Given the description of an element on the screen output the (x, y) to click on. 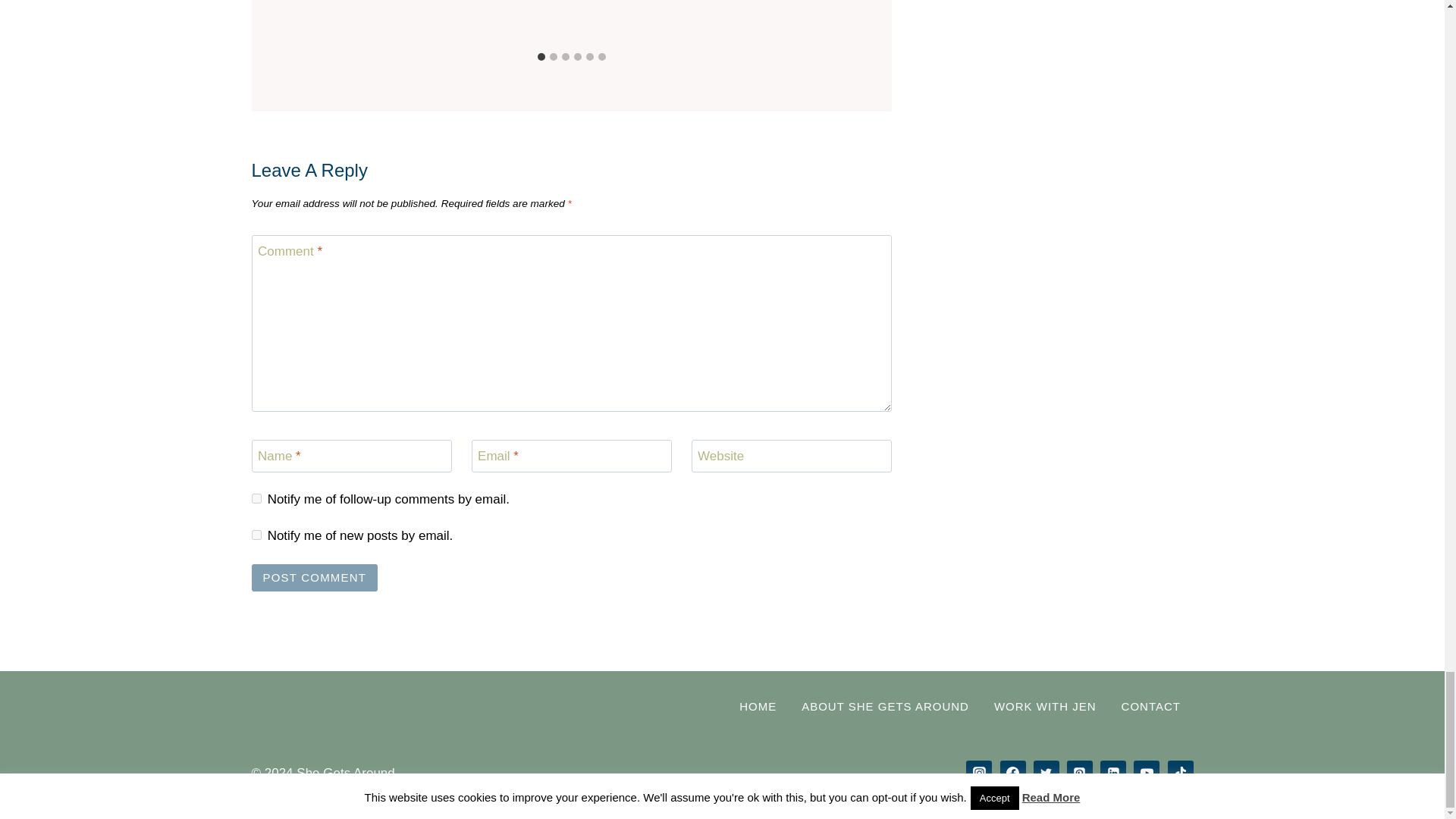
Post Comment (314, 577)
subscribe (256, 534)
subscribe (256, 498)
